Given the description of an element on the screen output the (x, y) to click on. 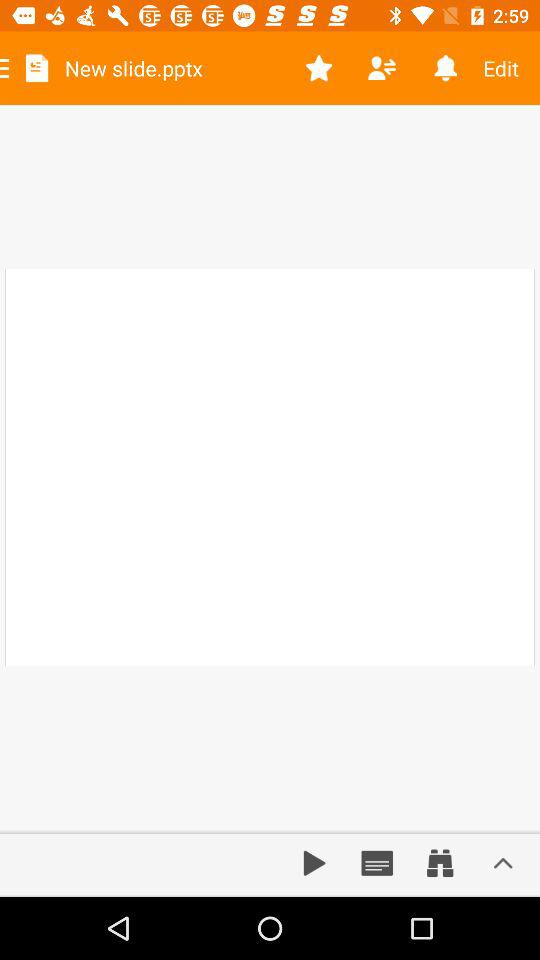
launch icon to the left of the edit icon (444, 68)
